Given the description of an element on the screen output the (x, y) to click on. 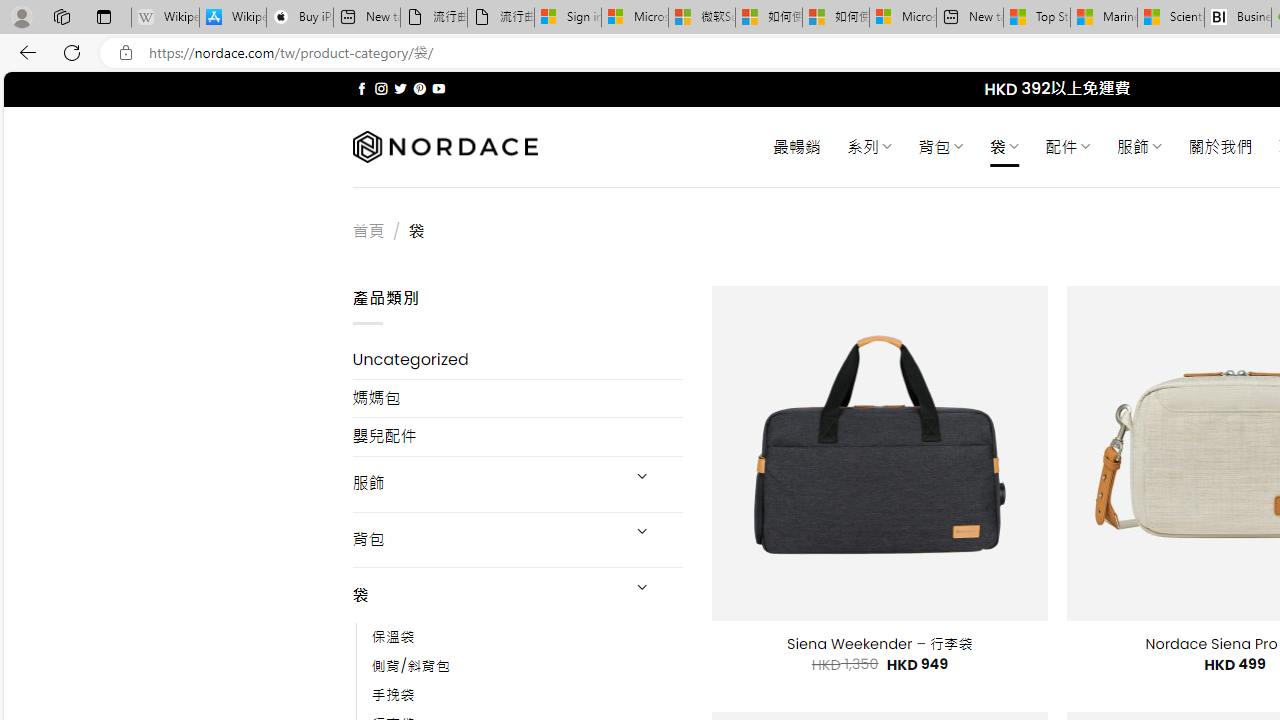
Uncategorized (517, 359)
Follow on Facebook (361, 88)
Follow on Instagram (381, 88)
